Given the description of an element on the screen output the (x, y) to click on. 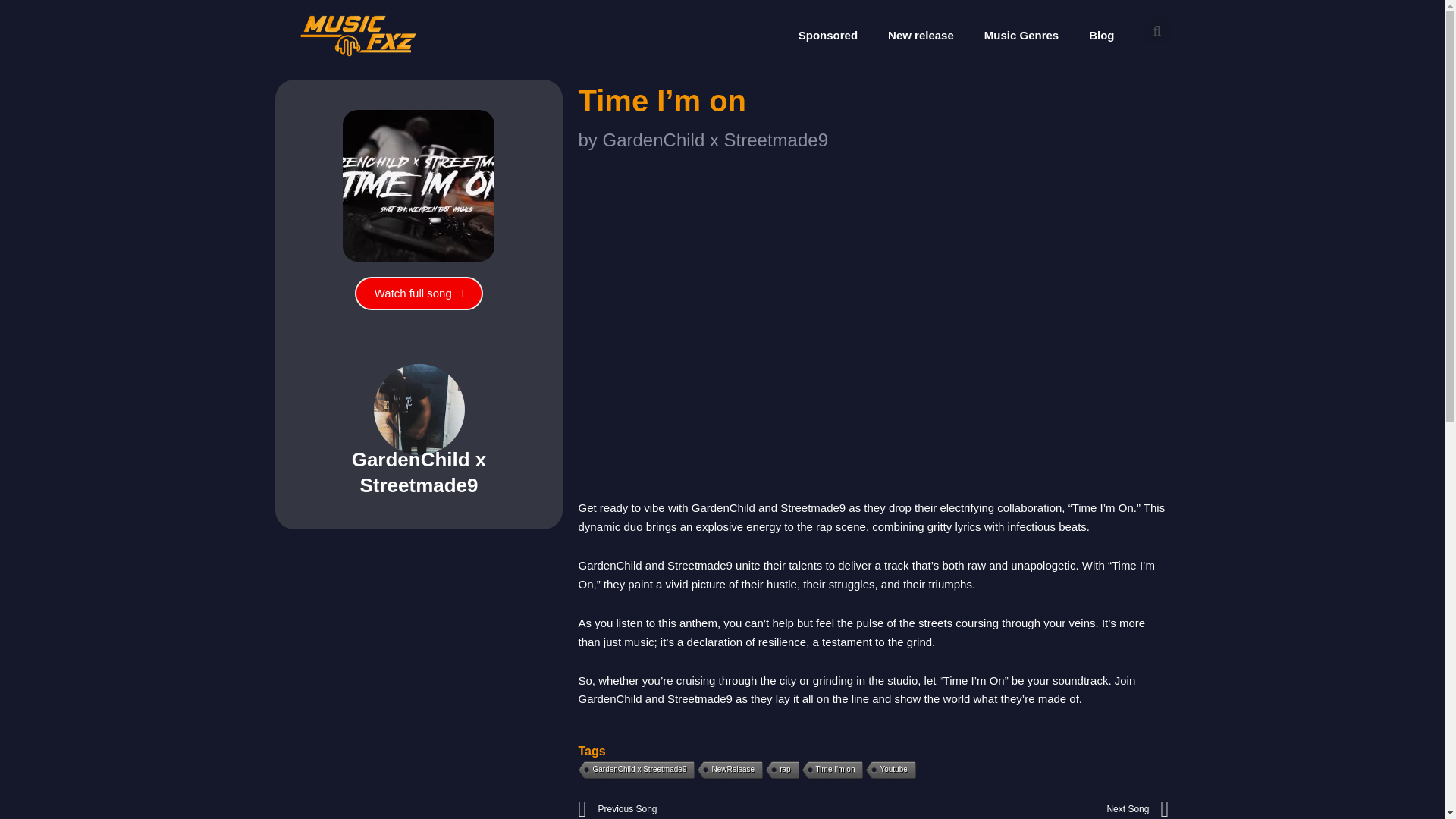
Youtube (725, 808)
New release (888, 770)
Watch full song (920, 35)
Blog (419, 293)
rap (1101, 35)
NewRelease (779, 770)
Sponsored (1021, 808)
Music Genres (728, 770)
GardenChild x Streetmade9 (827, 35)
GardenChild (1021, 35)
Screenshot 2024-03-10 221859 (635, 770)
